Given the description of an element on the screen output the (x, y) to click on. 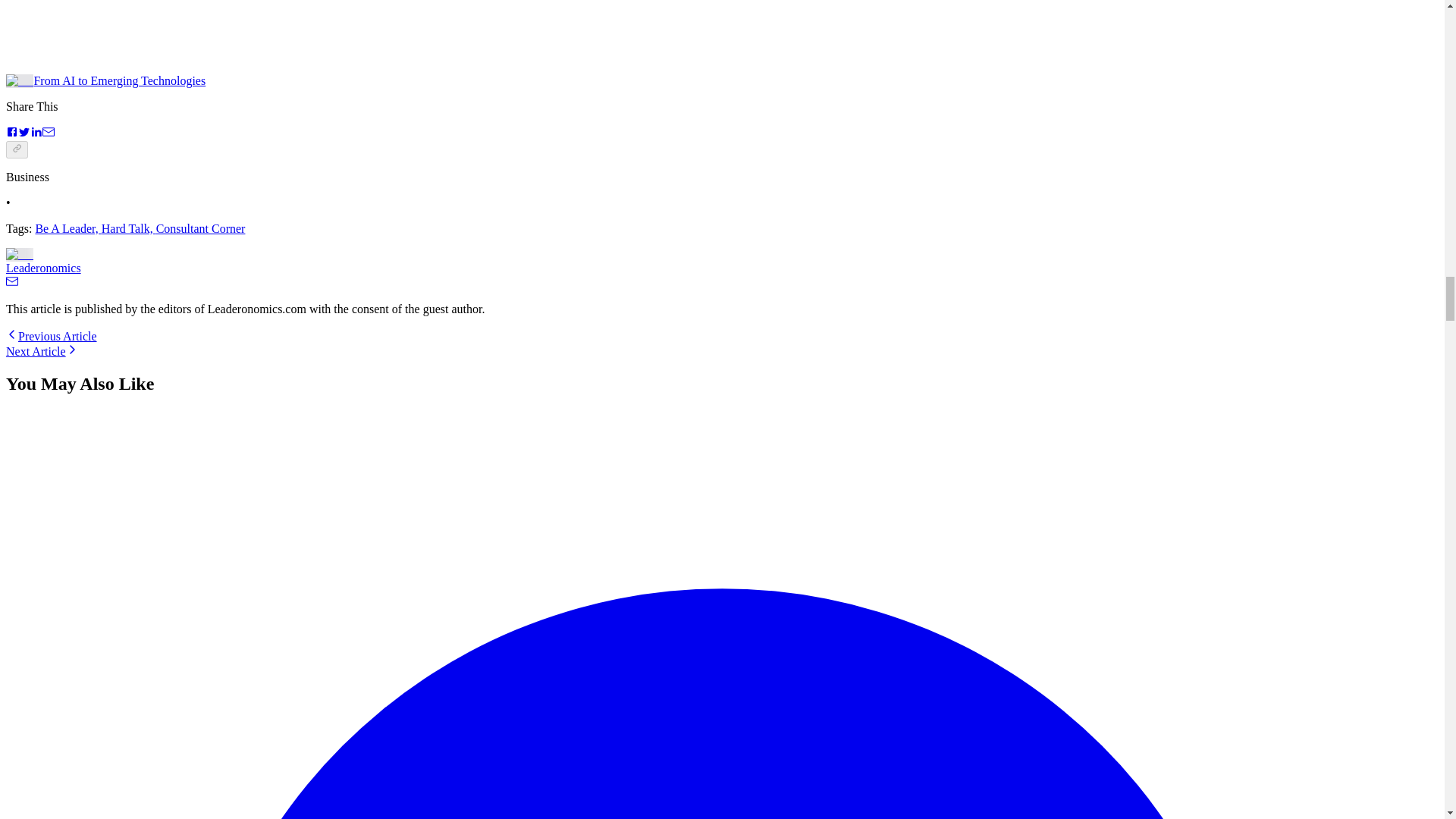
From AI to Emerging Technologies (105, 80)
Hard Talk, (128, 228)
Be A Leader, (67, 228)
